Given the description of an element on the screen output the (x, y) to click on. 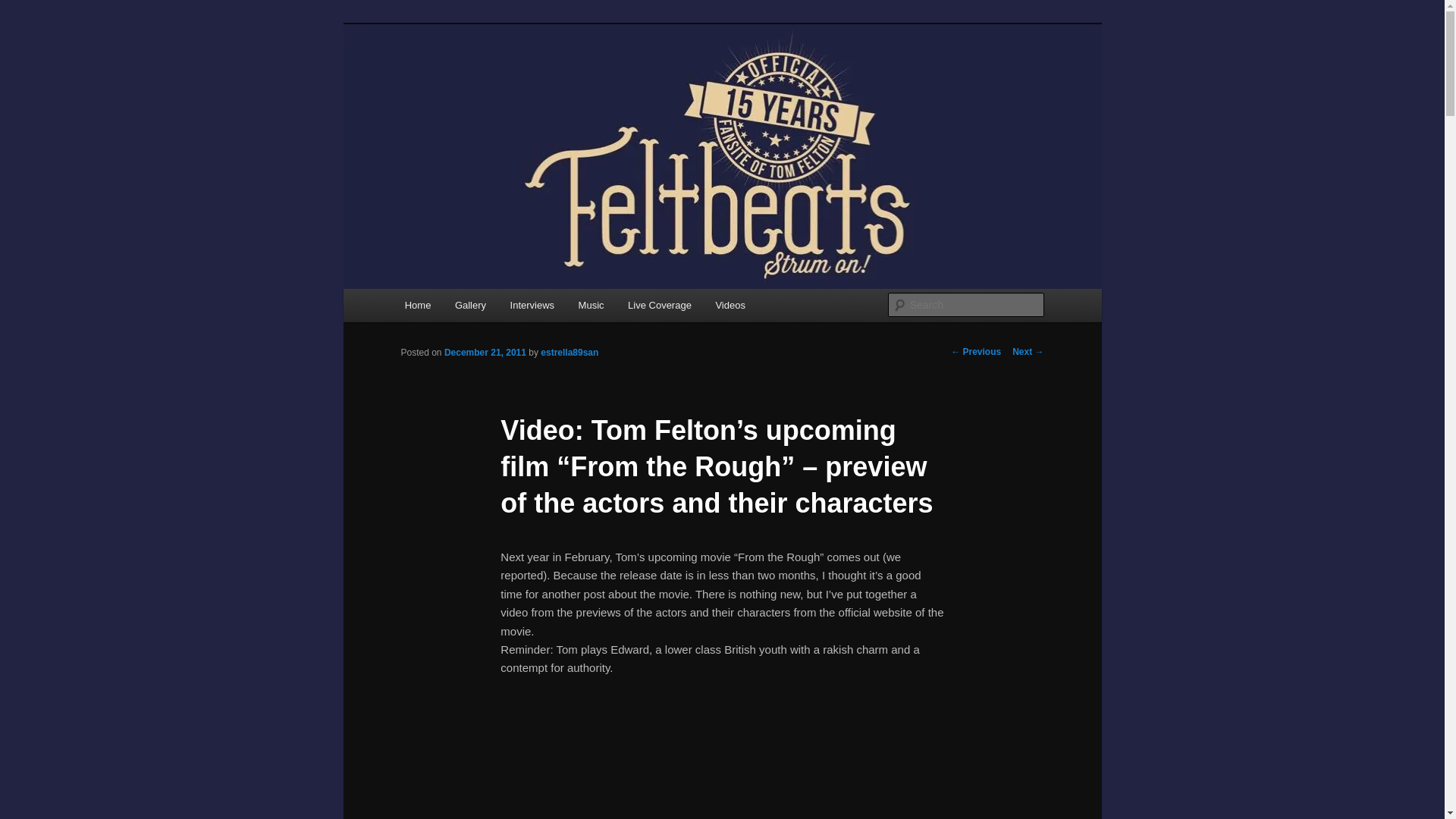
Home (417, 305)
Music (590, 305)
View all posts by estrella89san (569, 352)
Videos (730, 305)
1:50 pm (484, 352)
Search (24, 8)
Interviews (531, 305)
Feltbeats (450, 78)
Live Coverage (659, 305)
Gallery (469, 305)
